Given the description of an element on the screen output the (x, y) to click on. 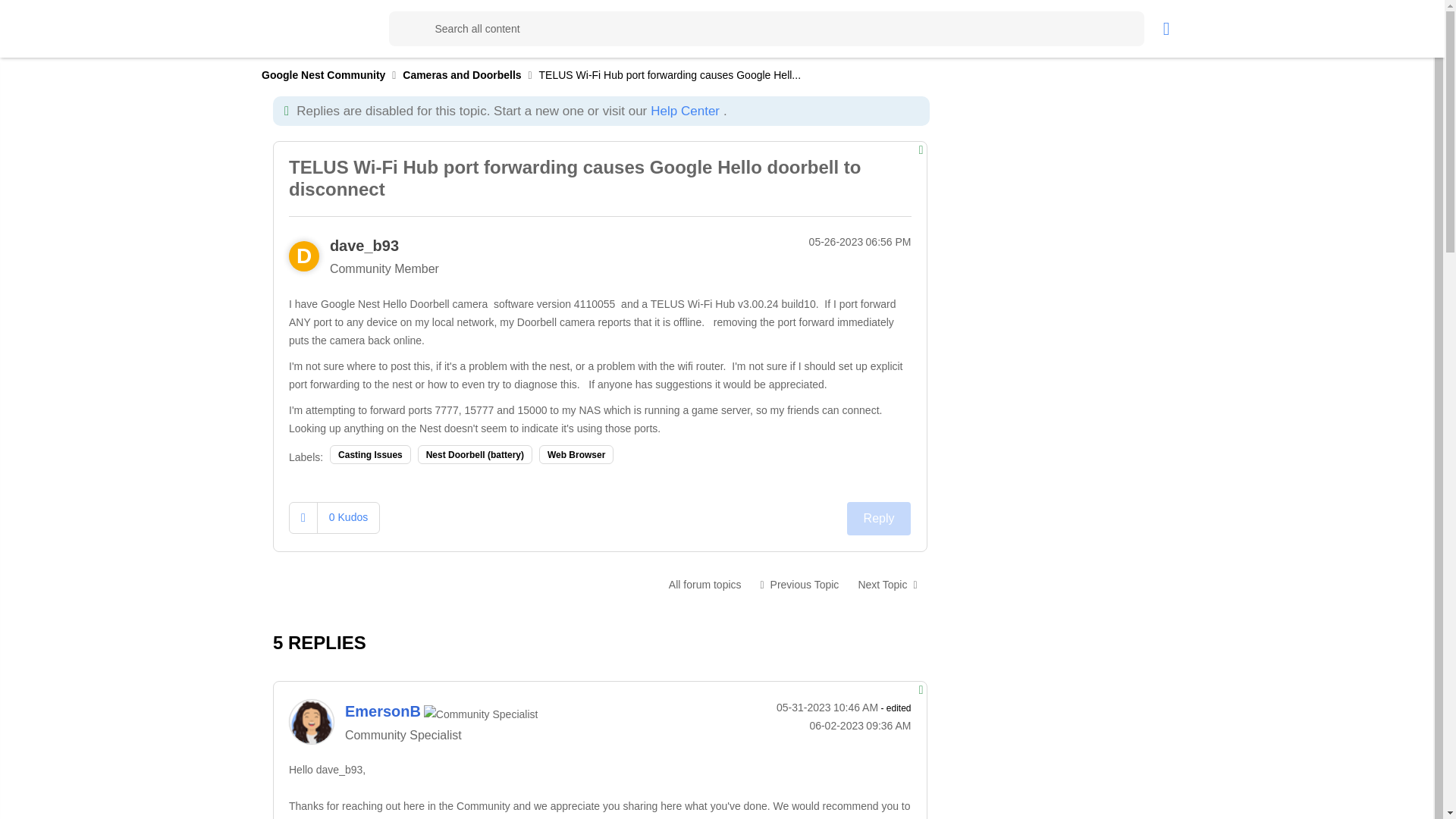
Search (405, 29)
Search (765, 28)
Web Browser (575, 454)
Search (405, 29)
Google Nest Community (323, 74)
Cameras and Doorbells (705, 584)
Search (405, 29)
Help Center (684, 110)
Previous Topic (799, 584)
Casting Issues (370, 454)
Google Nest Community (342, 28)
Next Topic (886, 584)
Nest doorbell communication issues (886, 584)
All forum topics (705, 584)
Click here to give kudos to this post. (303, 517)
